Given the description of an element on the screen output the (x, y) to click on. 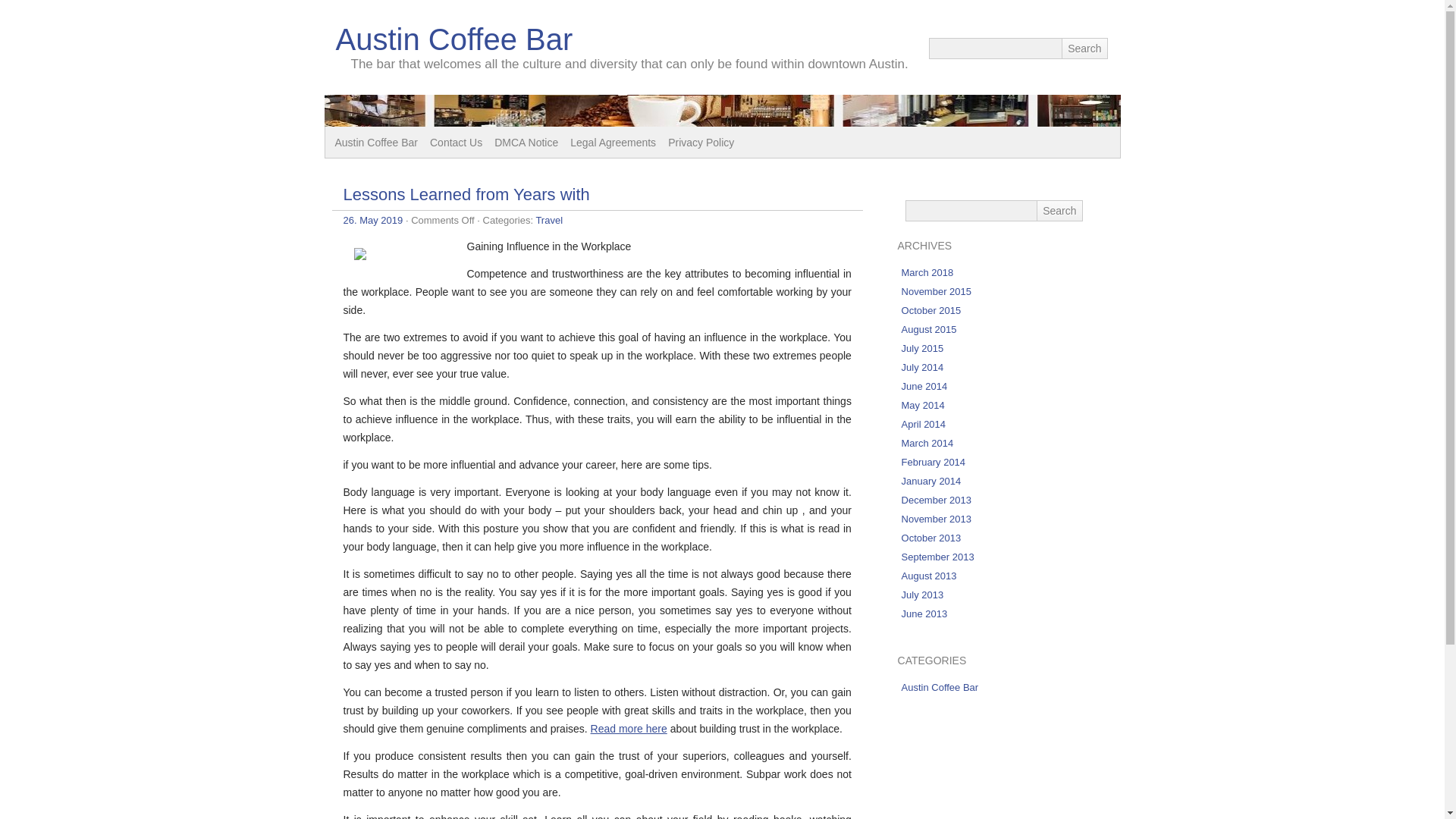
February 2014 (933, 461)
Austin Coffee Bar (376, 142)
July 2013 (922, 594)
July 2015 (922, 348)
May 2014 (922, 405)
November 2015 (936, 291)
August 2015 (928, 328)
Search (1083, 47)
March 2018 (927, 272)
Travel (548, 220)
Search (1058, 210)
April 2014 (923, 423)
September 2013 (937, 556)
Austin Coffee Bar (453, 39)
Austin Coffee Bar (939, 686)
